Given the description of an element on the screen output the (x, y) to click on. 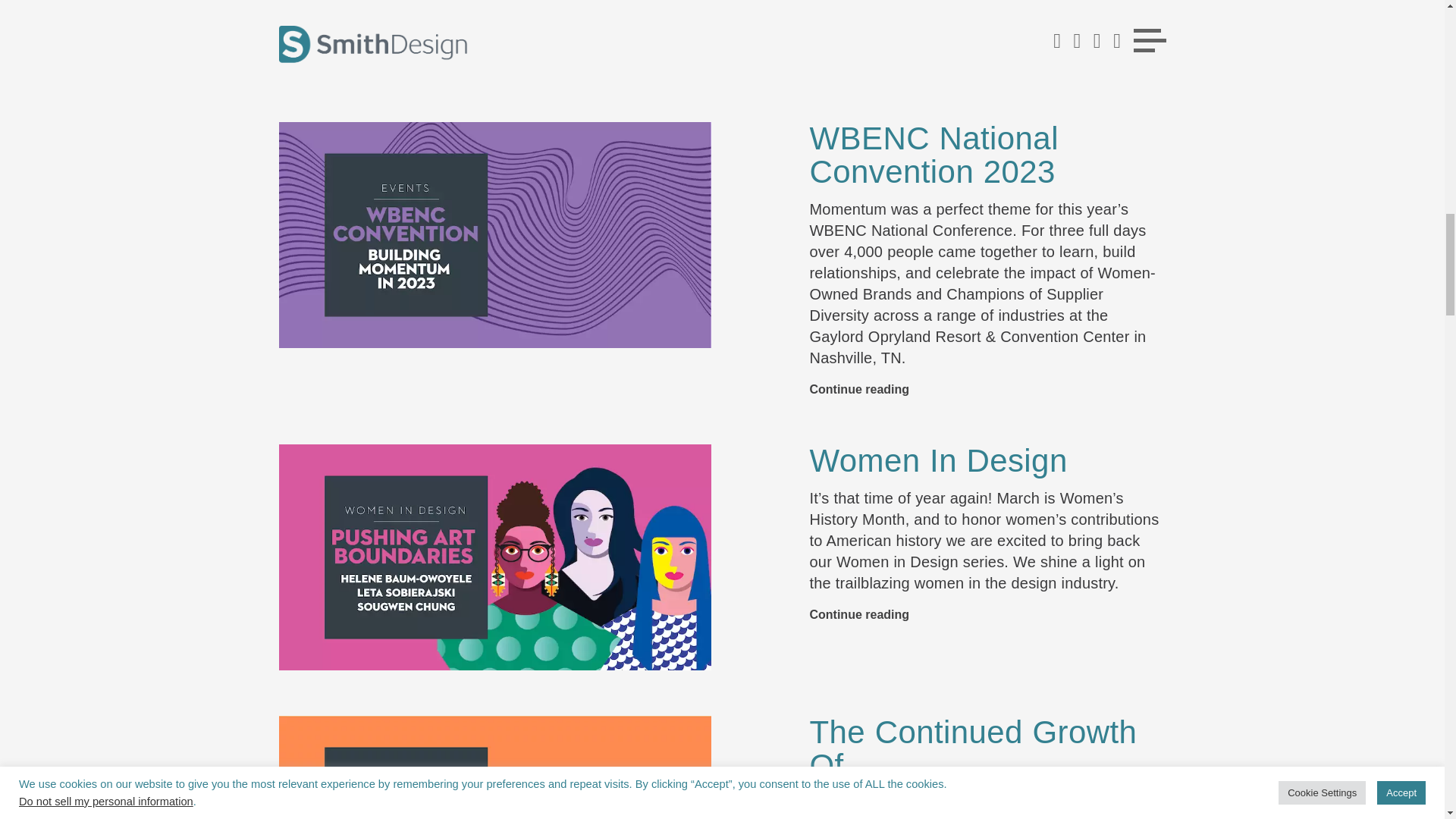
Continue reading (858, 32)
WBENC National Convention 2023 (933, 154)
